Given the description of an element on the screen output the (x, y) to click on. 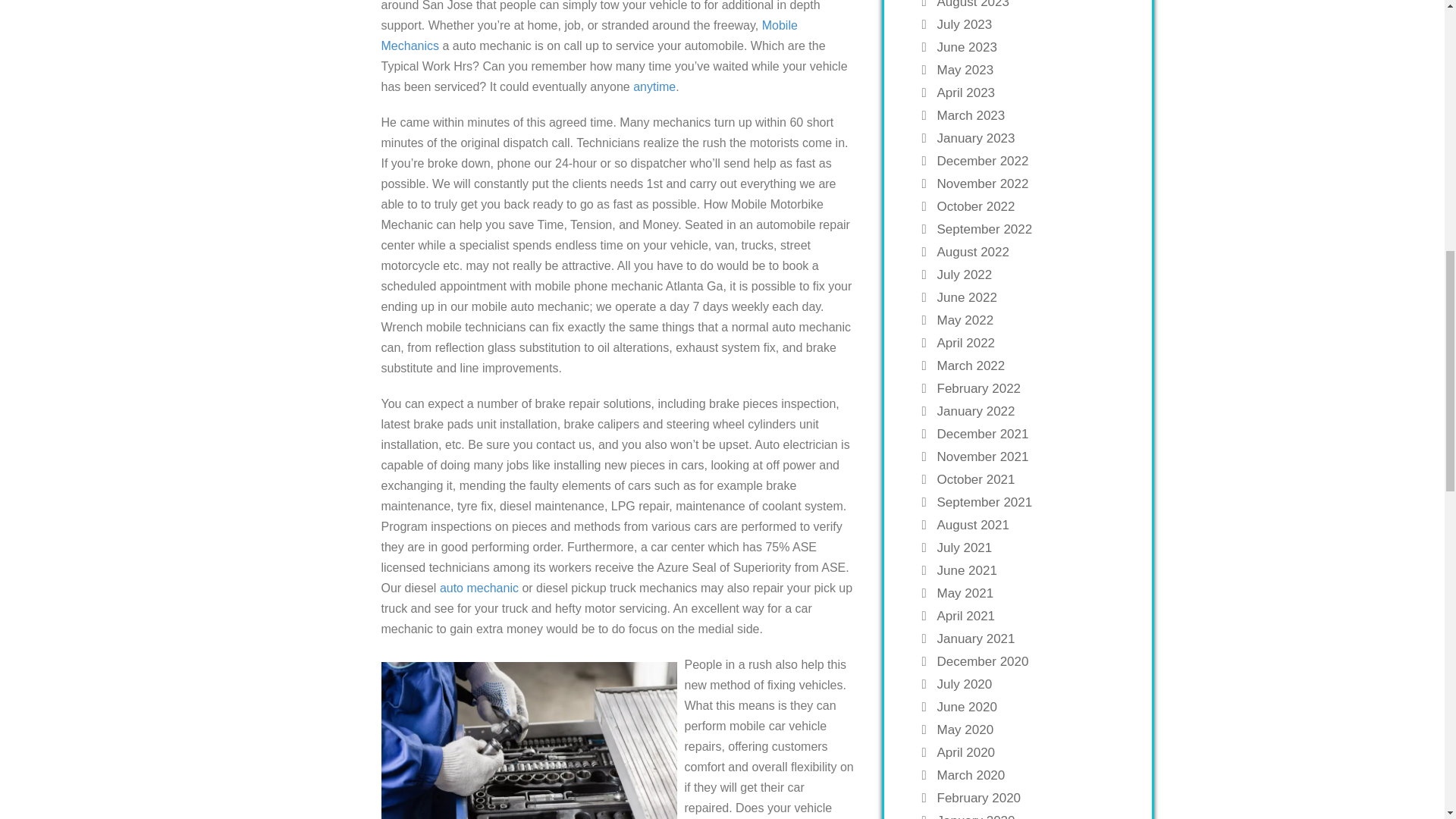
anytime (654, 86)
auto mechanic (478, 587)
Mobile Mechanics (588, 35)
